Given the description of an element on the screen output the (x, y) to click on. 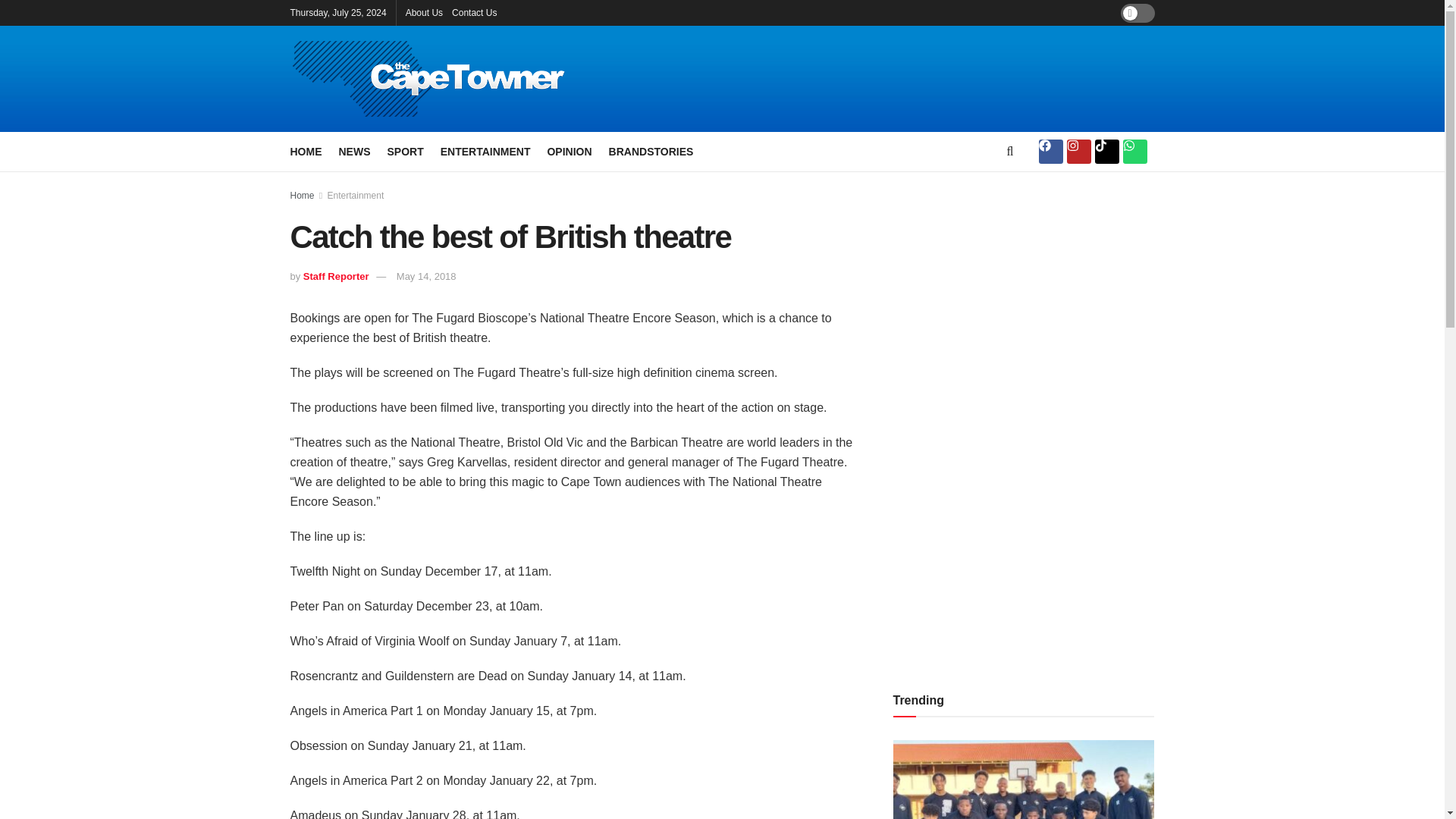
OPINION (569, 151)
SPORT (405, 151)
HOME (305, 151)
3rd party ad content (888, 79)
About Us (424, 12)
ENTERTAINMENT (486, 151)
Staff Reporter (335, 276)
BRANDSTORIES (651, 151)
NEWS (353, 151)
Home (301, 195)
3rd party ad content (1007, 428)
Entertainment (355, 195)
May 14, 2018 (426, 276)
Contact Us (473, 12)
